Given the description of an element on the screen output the (x, y) to click on. 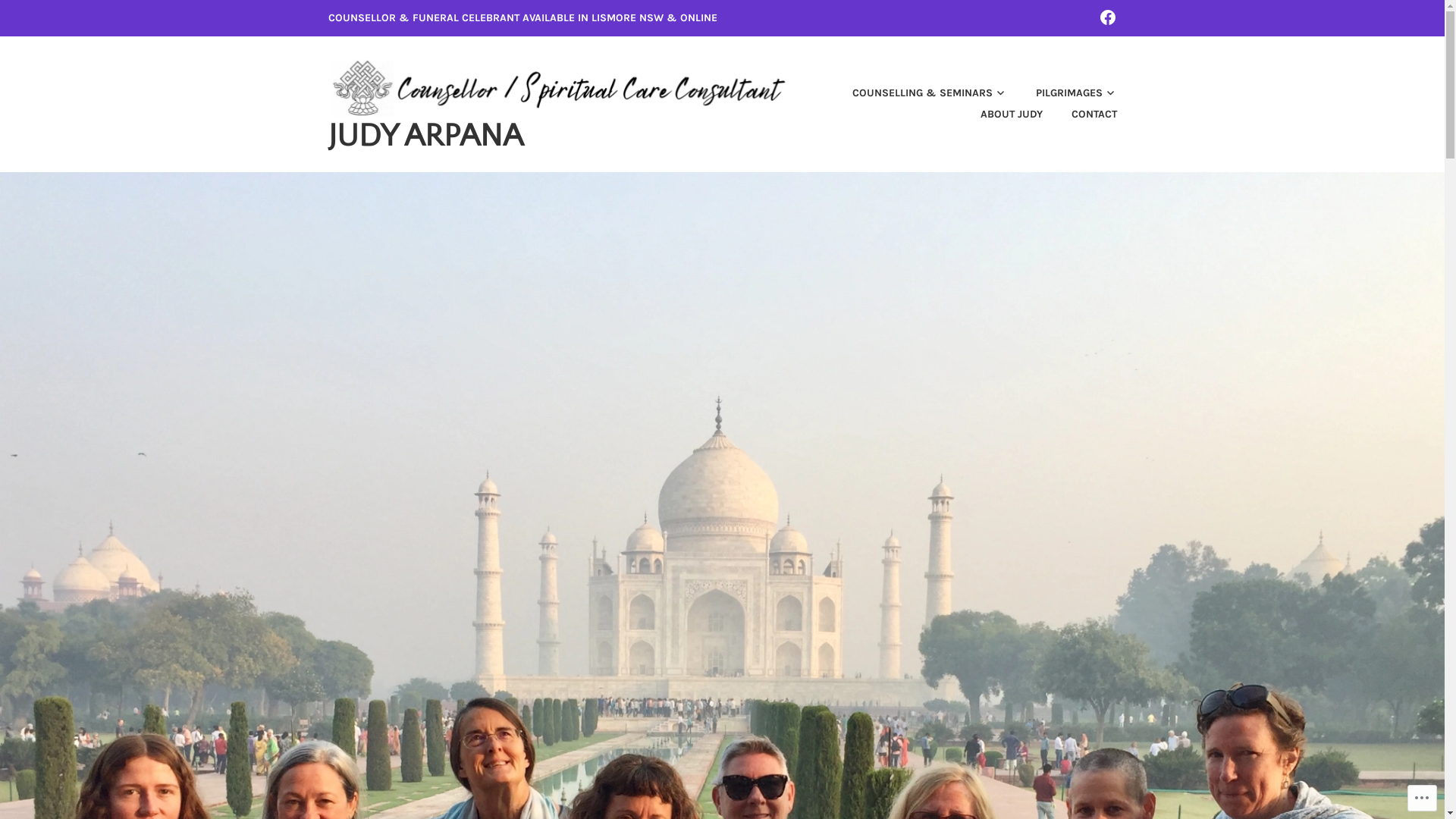
ABOUT JUDY Element type: text (998, 114)
CONTACT Element type: text (1081, 114)
COUNSELLING & SEMINARS Element type: text (916, 93)
PILGRIMAGES Element type: text (1063, 93)
JUDY ARPANA Element type: text (424, 135)
